Given the description of an element on the screen output the (x, y) to click on. 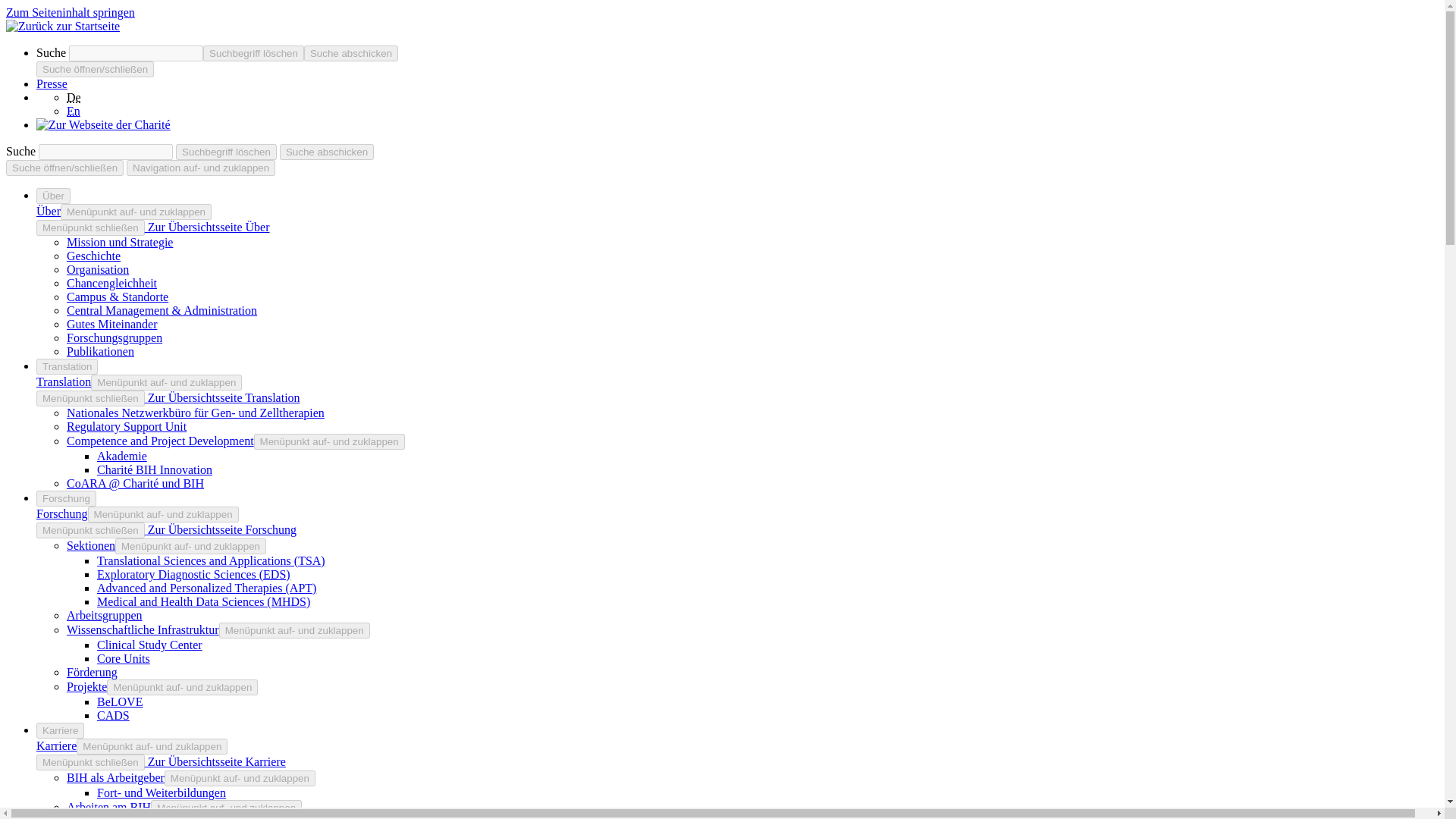
englisch (73, 110)
Suche abschicken (350, 53)
Akademie (122, 455)
Organisation (97, 269)
Translation (63, 381)
Forschung (66, 498)
Suche abschicken (326, 151)
Navigation auf- und zuklappen (200, 167)
En (73, 110)
Competence and Project Development (159, 440)
